Given the description of an element on the screen output the (x, y) to click on. 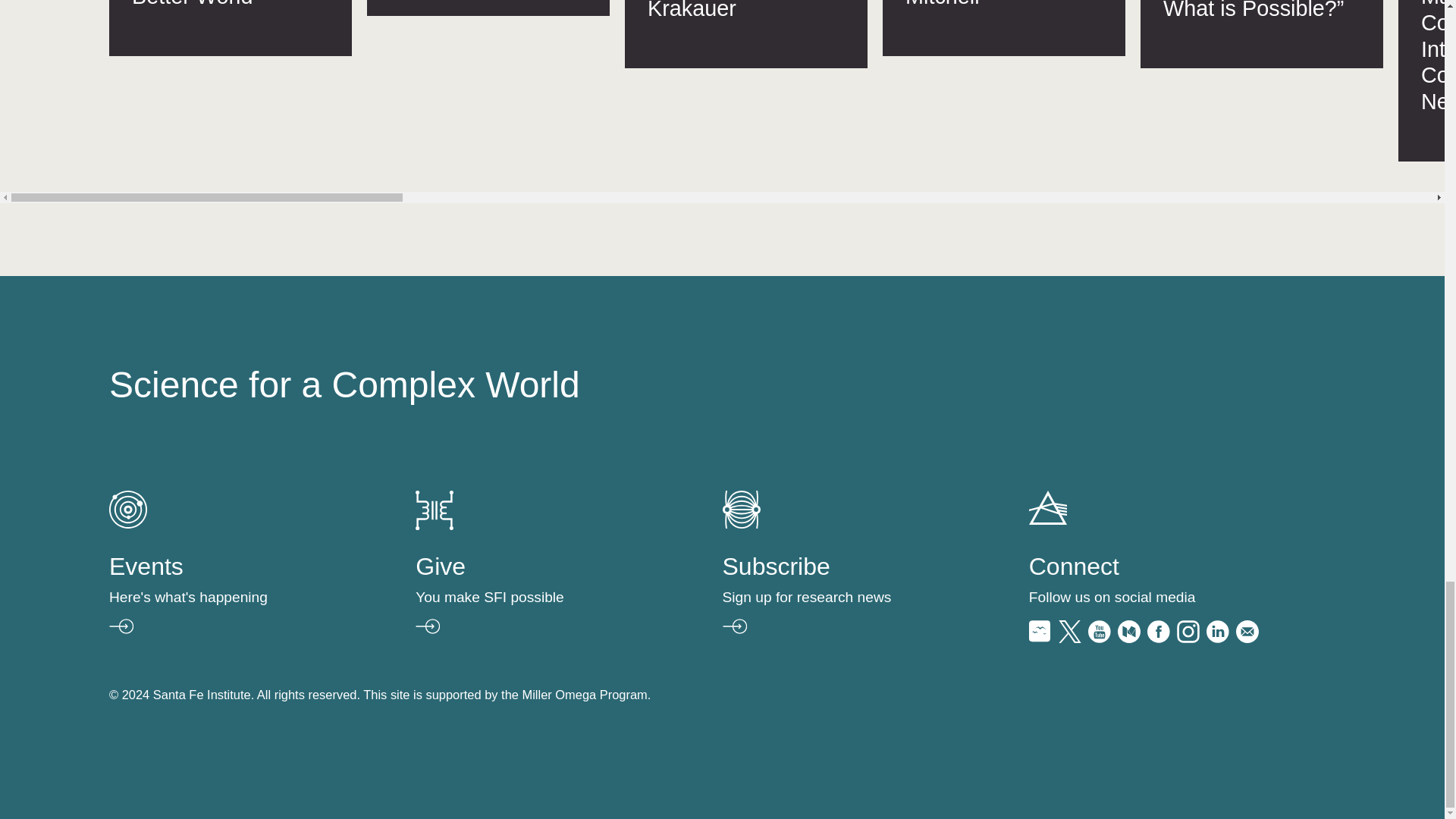
contact (1247, 637)
Bluesky (1040, 637)
Give (532, 595)
facebook (1158, 637)
instagram (1187, 637)
Give (433, 525)
Events (227, 595)
linkedin (1217, 637)
medium (1129, 637)
youtube (1098, 637)
X (1069, 637)
Events (128, 523)
